Given the description of an element on the screen output the (x, y) to click on. 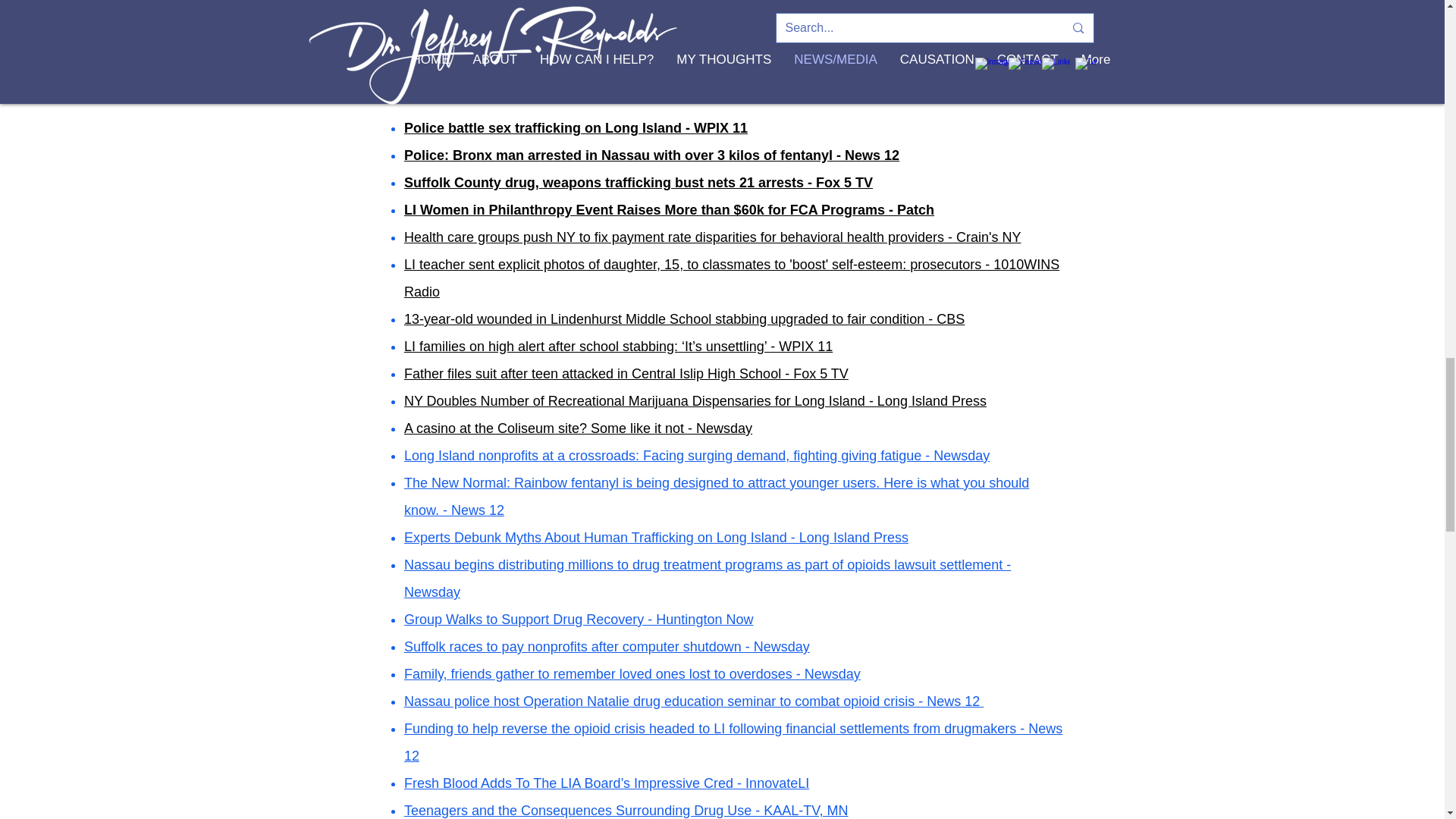
Group Walks to Support Drug Recovery - Huntington Now (579, 619)
Police battle sex trafficking on Long Island - WPIX 11 (576, 127)
